Given the description of an element on the screen output the (x, y) to click on. 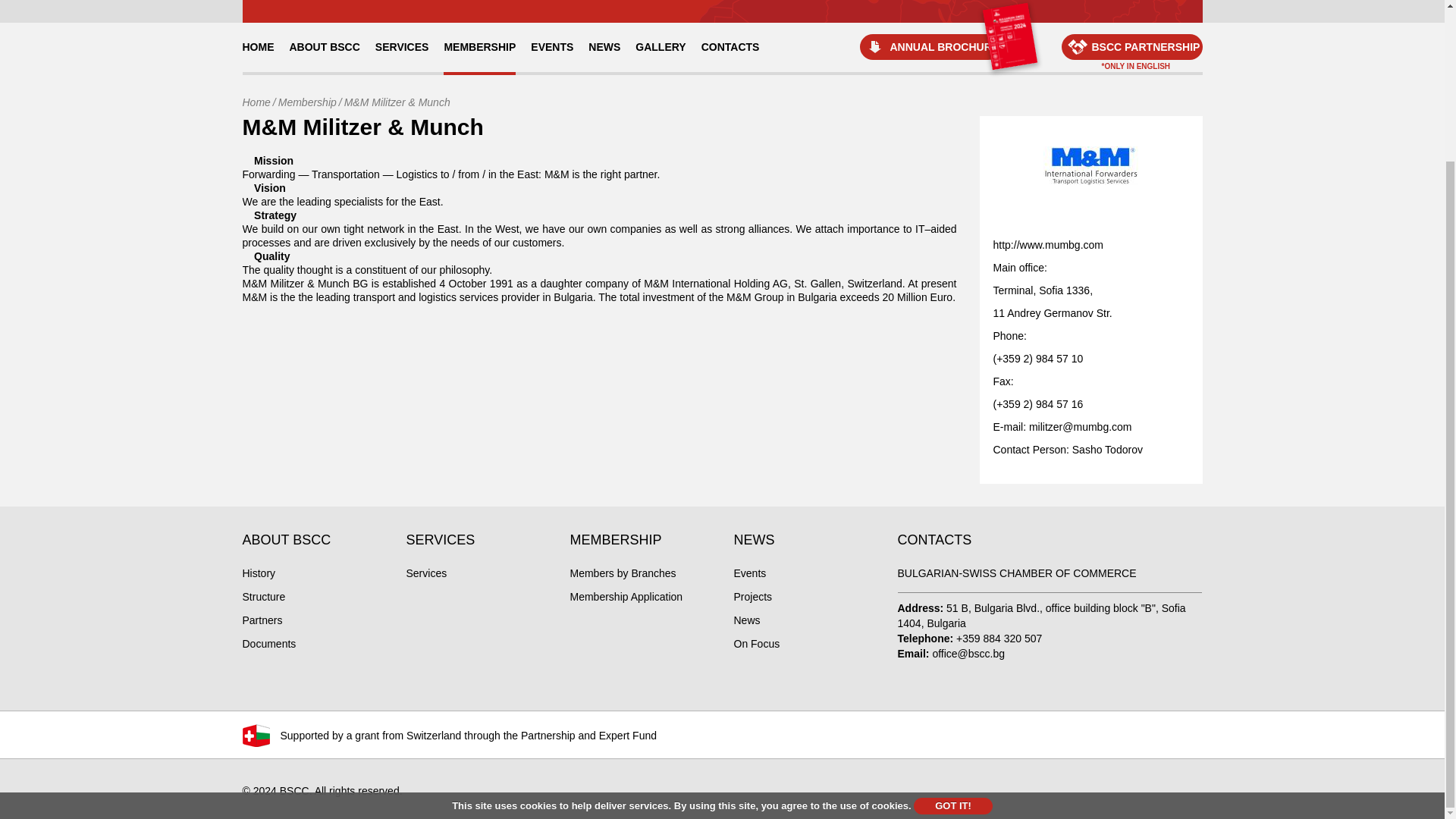
News (746, 620)
Documents (270, 644)
Membership Application (626, 596)
MEMBERSHIP (478, 47)
SERVICES (402, 47)
HOME (258, 47)
Membership (307, 101)
Home (256, 101)
Members by Branches (623, 573)
History (259, 573)
Events (750, 573)
ABOUT BSCC (325, 47)
Projects (753, 596)
CONTACTS (730, 47)
GALLERY (660, 47)
